Given the description of an element on the screen output the (x, y) to click on. 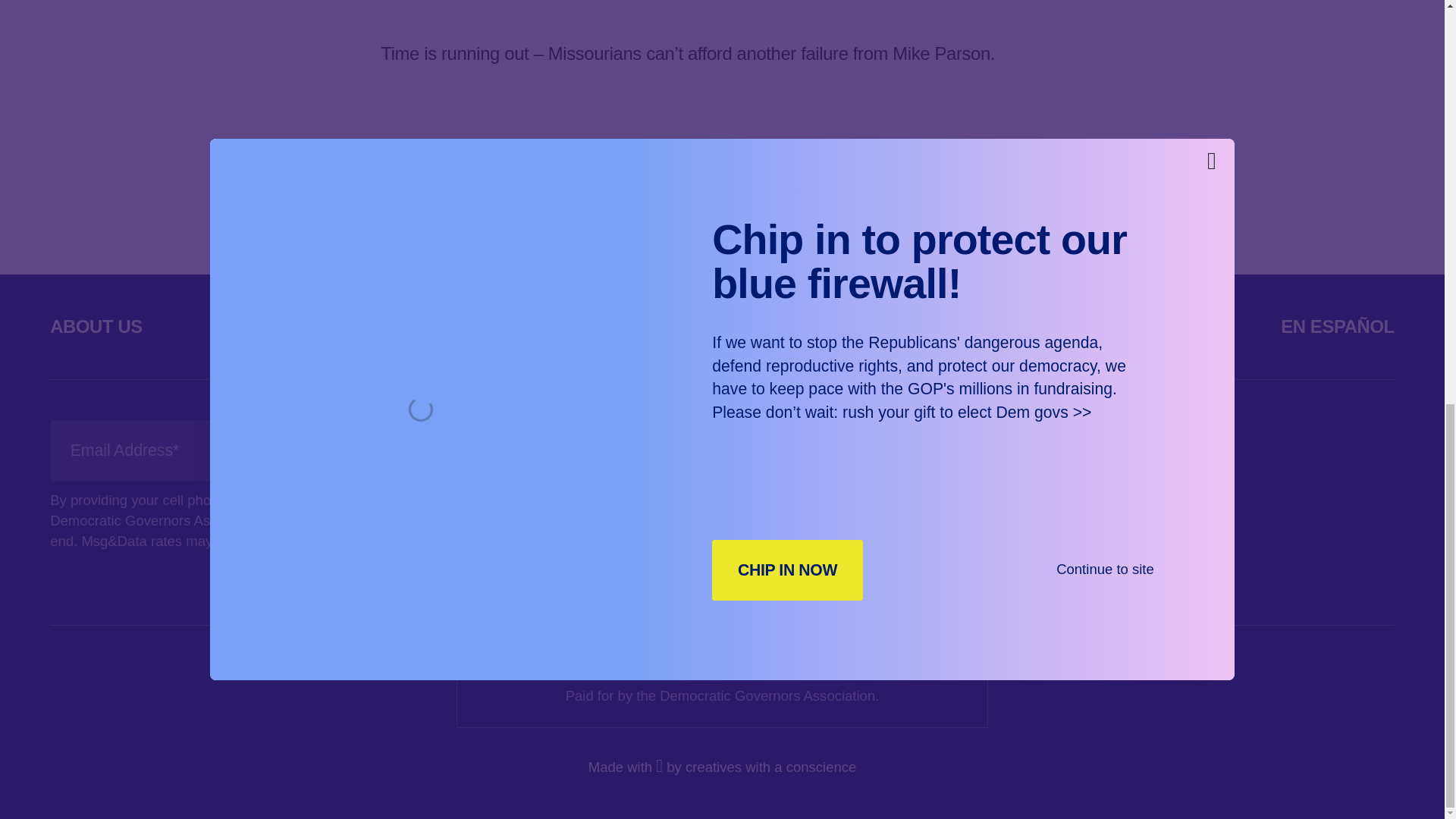
Privacy Policy (300, 540)
JOBS (1139, 326)
THE LATEST (544, 326)
TAKE ACTION (773, 326)
JOIN THE TEAM (717, 449)
SHOP (973, 326)
here (628, 154)
ABOUT US (95, 326)
GOVERNORS (316, 326)
